Given the description of an element on the screen output the (x, y) to click on. 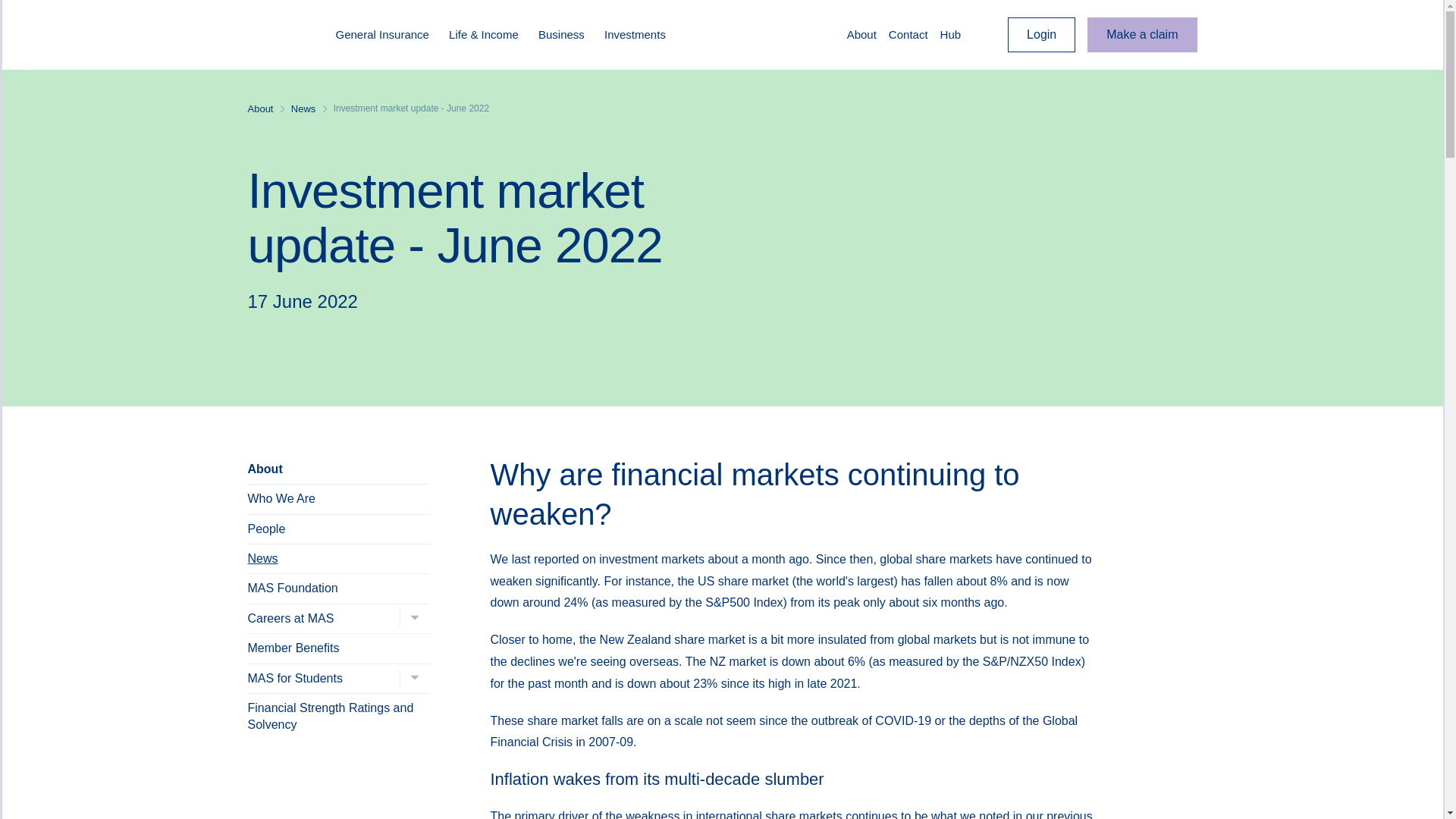
Business (567, 34)
Investments (641, 34)
General Insurance (387, 34)
